Given the description of an element on the screen output the (x, y) to click on. 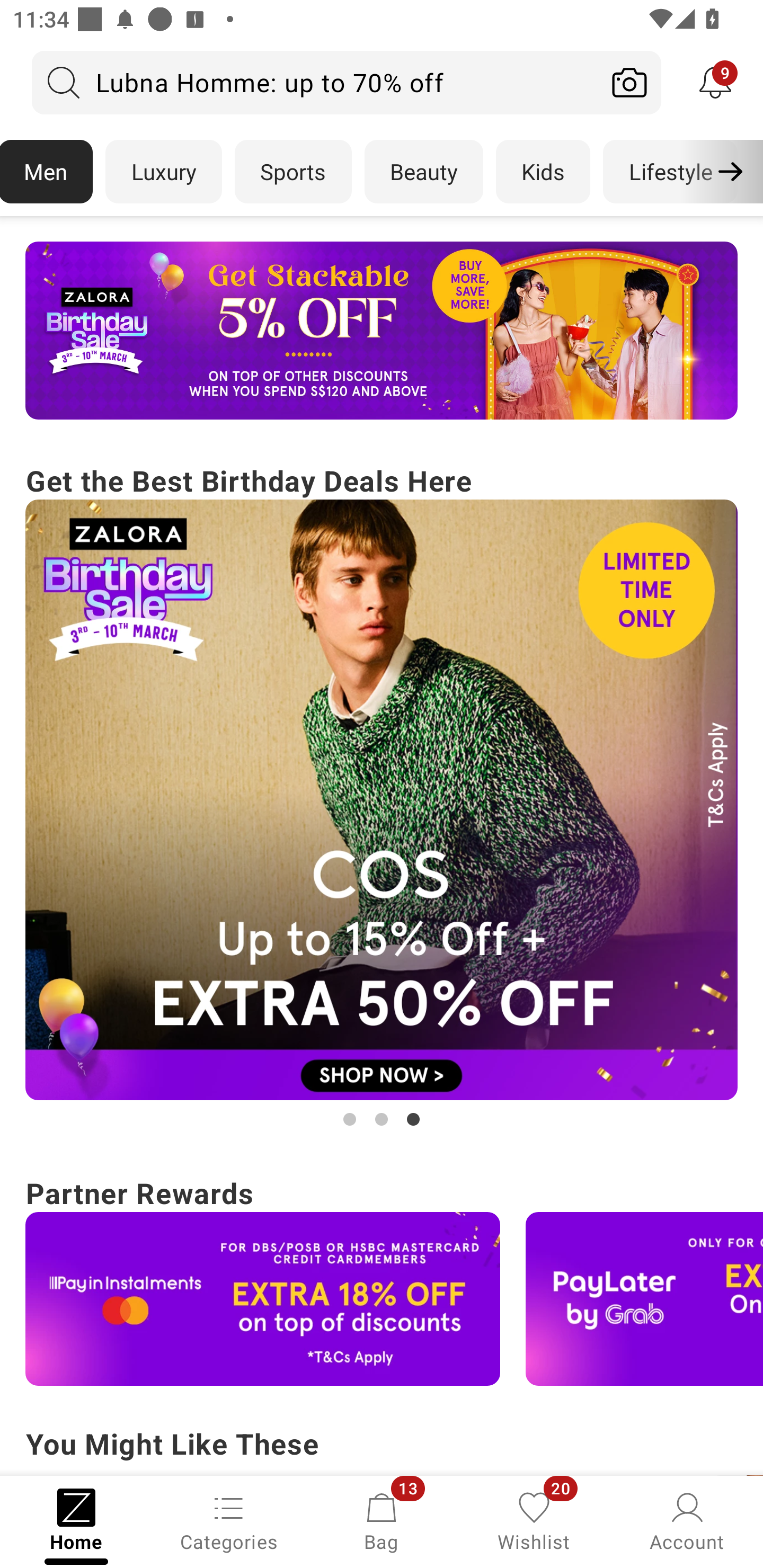
Lubna Homme: up to 70% off (314, 82)
Men (46, 171)
Luxury (163, 171)
Sports (293, 171)
Beauty (423, 171)
Kids (542, 171)
Lifestyle (669, 171)
Campaign banner (381, 330)
Get the Best Birthday Deals Here Campaign banner (381, 794)
Campaign banner (381, 800)
Partner Rewards Campaign banner Campaign banner (381, 1277)
Campaign banner (262, 1299)
Campaign banner (644, 1299)
Categories (228, 1519)
Bag, 13 new notifications Bag (381, 1519)
Wishlist, 20 new notifications Wishlist (533, 1519)
Account (686, 1519)
